Given the description of an element on the screen output the (x, y) to click on. 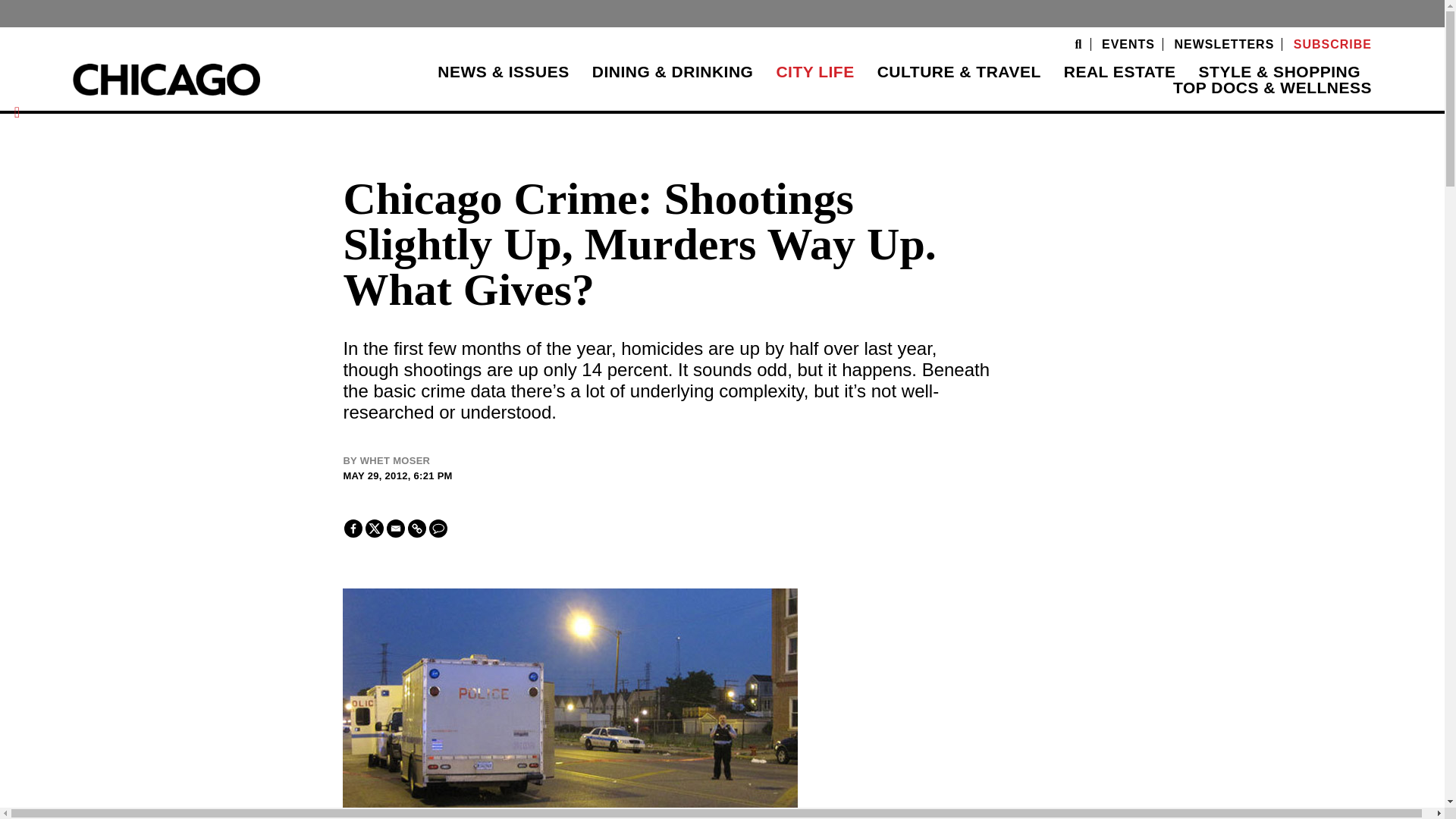
EVENTS (1128, 43)
Email (395, 528)
NEWSLETTERS (1224, 43)
Facebook (352, 528)
comment (437, 528)
X (374, 528)
Copy Link (416, 528)
